Given the description of an element on the screen output the (x, y) to click on. 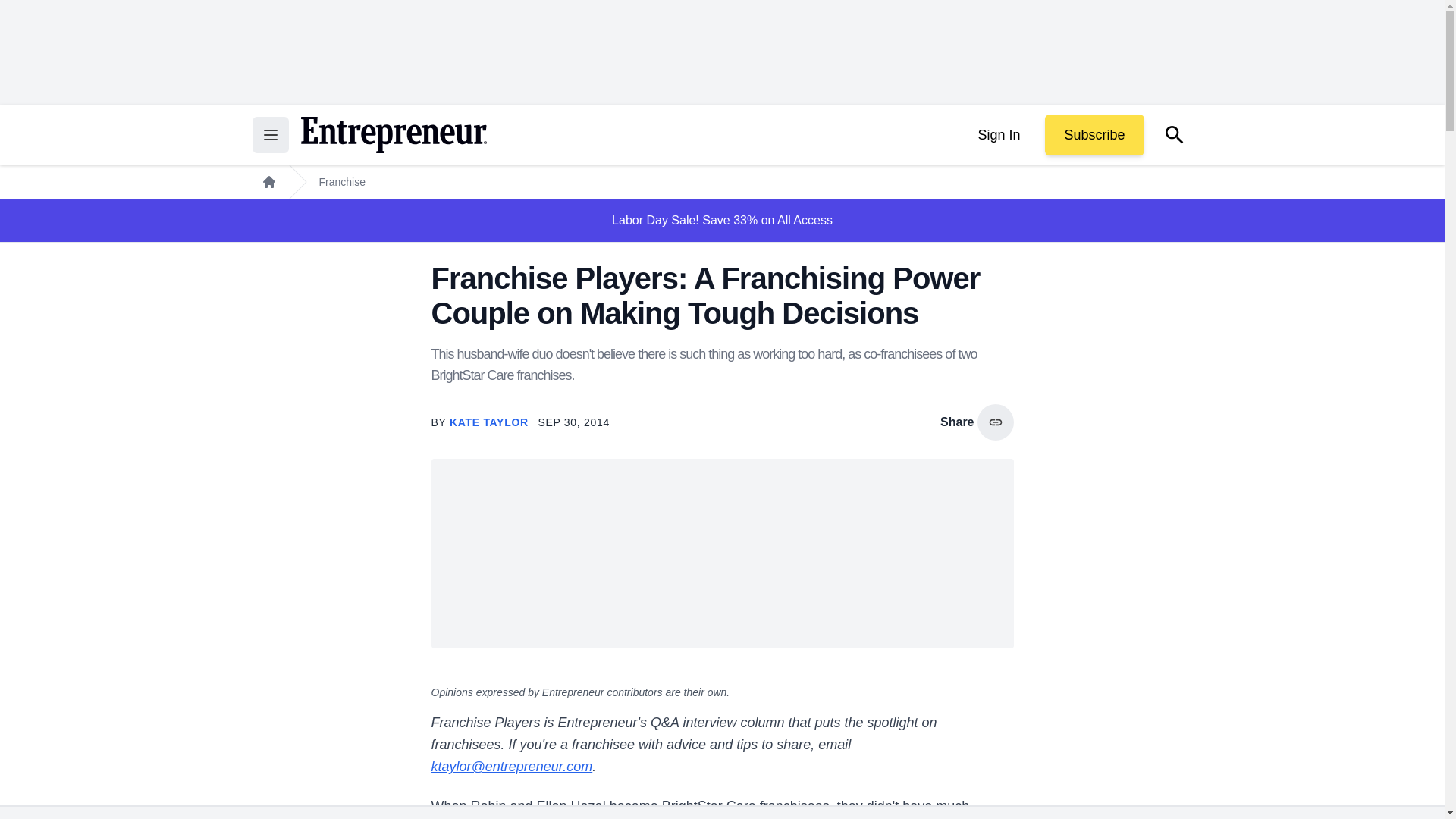
Subscribe (1093, 134)
Return to the home page (392, 135)
copy (994, 422)
Sign In (998, 134)
